Given the description of an element on the screen output the (x, y) to click on. 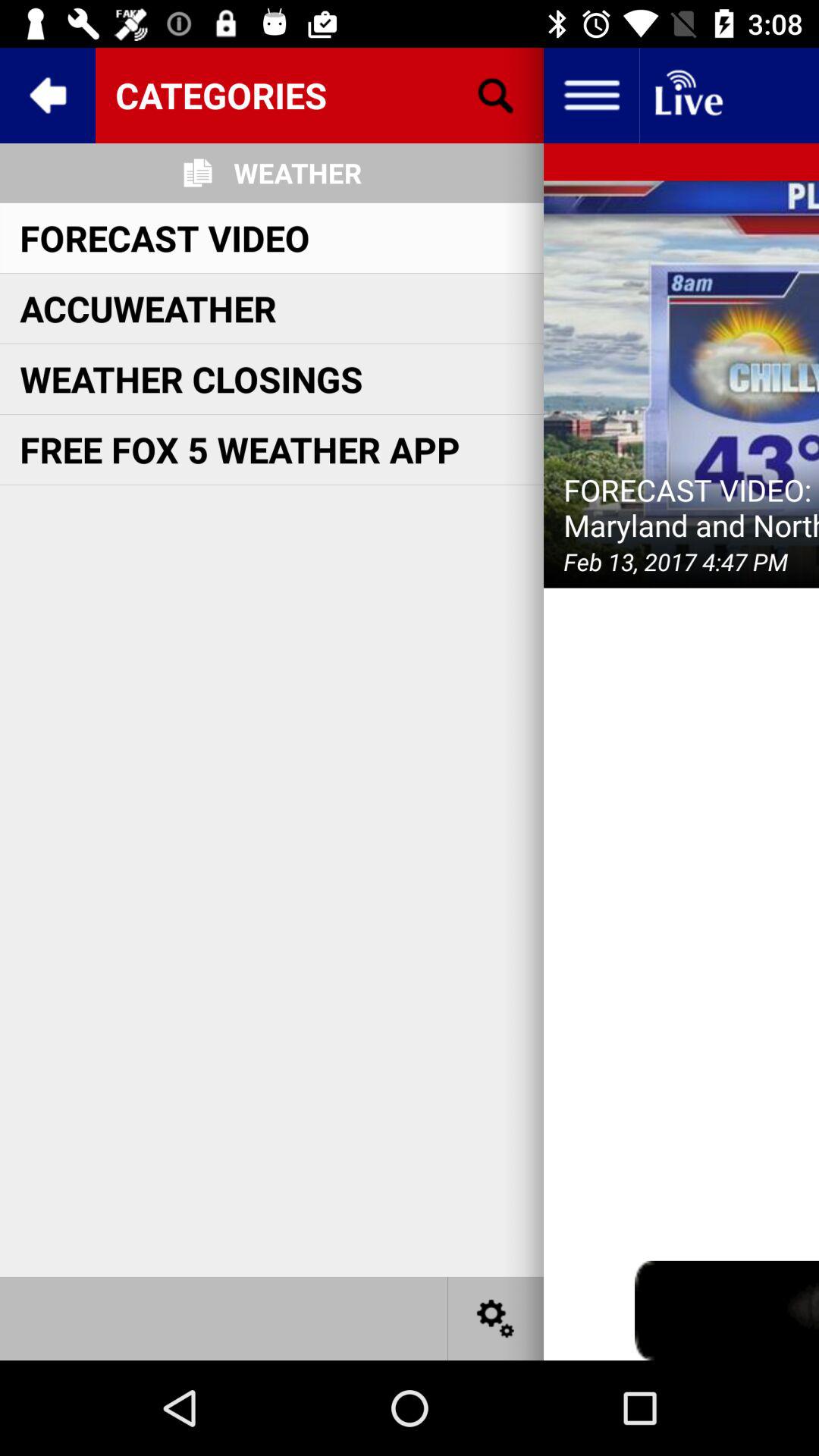
launch free fox 5 item (239, 449)
